Given the description of an element on the screen output the (x, y) to click on. 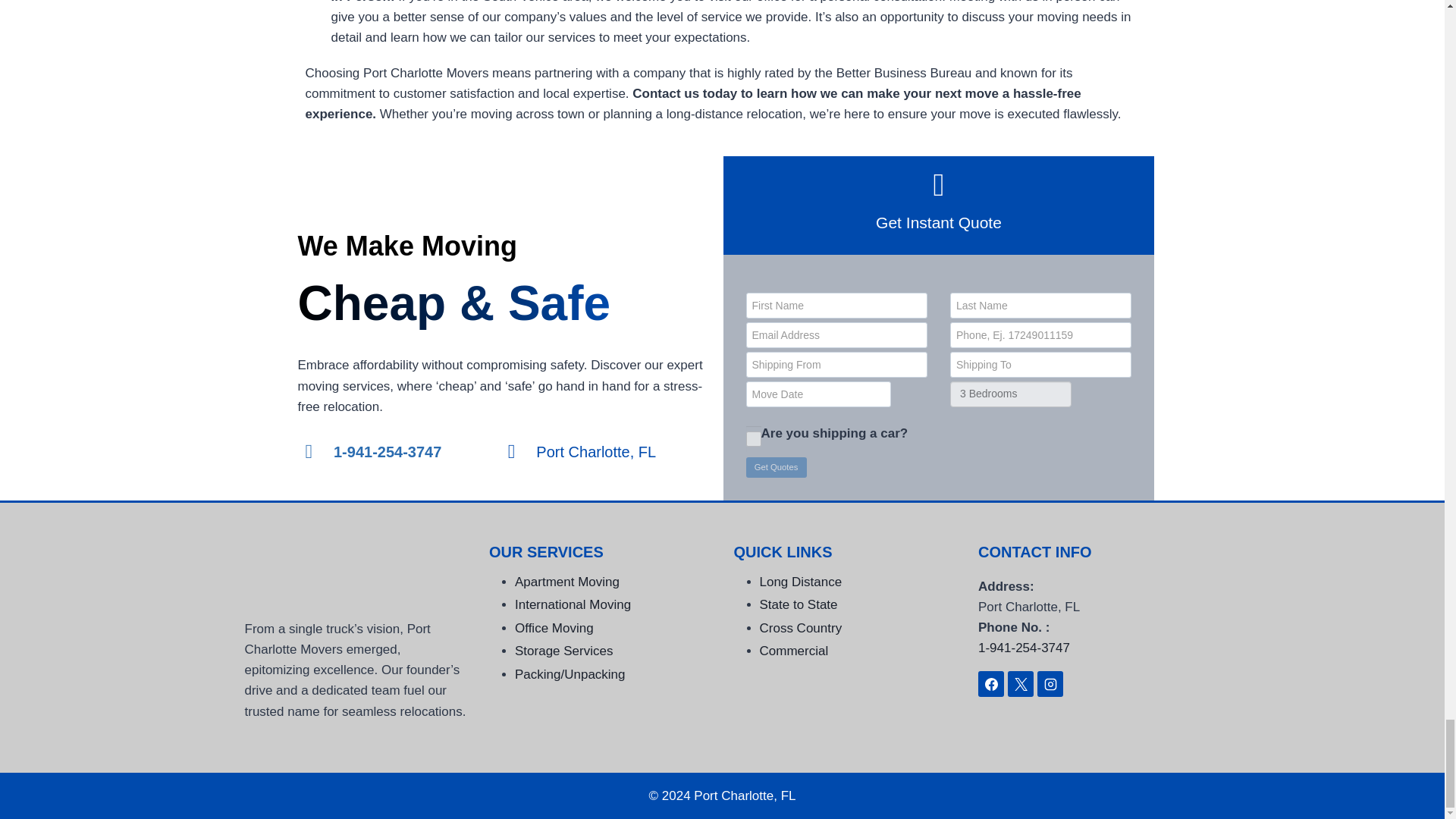
Get Quotes (775, 467)
1-941-254-3747 (372, 451)
Get Quotes (775, 467)
International Moving (572, 604)
Apartment Moving (567, 581)
